Given the description of an element on the screen output the (x, y) to click on. 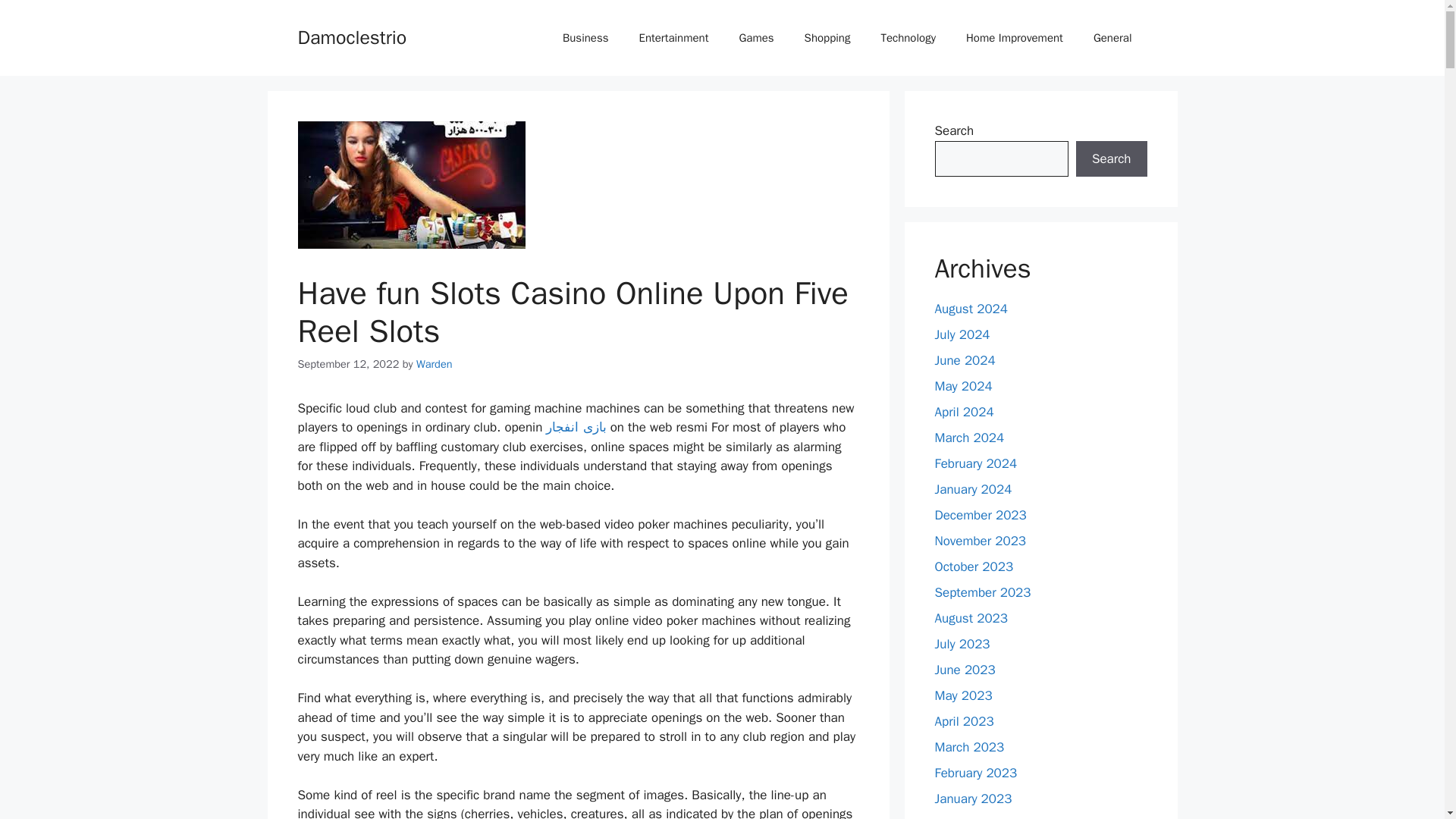
Shopping (827, 37)
Entertainment (673, 37)
June 2024 (964, 360)
Search (1111, 158)
May 2024 (962, 385)
November 2023 (980, 540)
Games (756, 37)
February 2023 (975, 772)
May 2023 (962, 695)
Warden (434, 364)
April 2024 (963, 412)
January 2024 (972, 489)
General (1112, 37)
July 2023 (962, 643)
Technology (907, 37)
